Given the description of an element on the screen output the (x, y) to click on. 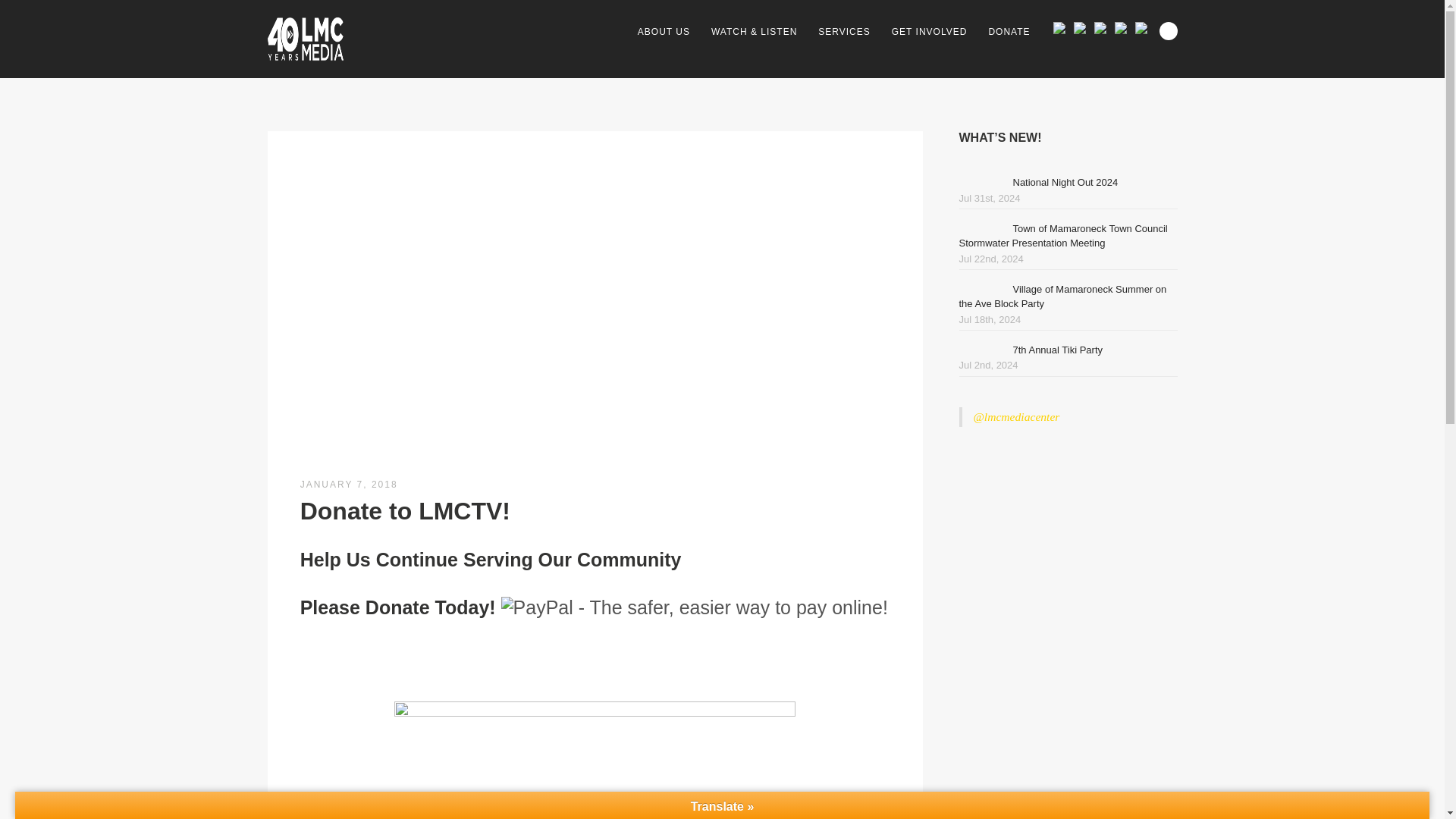
ABOUT US (663, 31)
SERVICES (844, 31)
GET INVOLVED (929, 31)
